Given the description of an element on the screen output the (x, y) to click on. 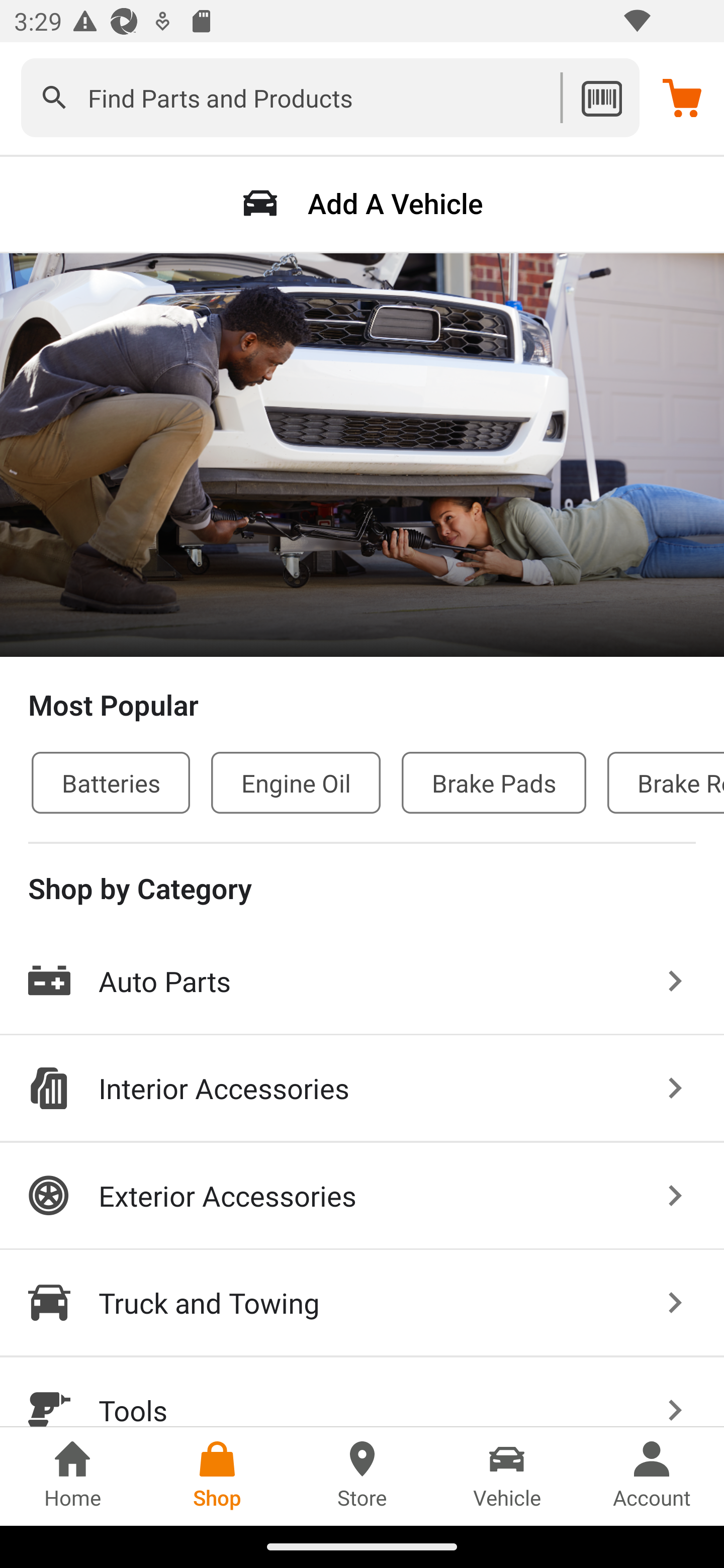
 scan-product-to-search  (601, 97)
 (54, 97)
Cart, no items  (681, 97)
add-vehicle-button  Add A Vehicle (362, 202)
Batteries (110, 782)
Engine Oil (295, 782)
Brake Pads (493, 782)
Brake Rotors (665, 782)
Auto Parts category  Auto Parts  (362, 981)
Truck and Towing category  Truck and Towing  (362, 1303)
Tools category  Tools  (362, 1391)
Home (72, 1475)
Shop (216, 1475)
Store (361, 1475)
Vehicle (506, 1475)
Account (651, 1475)
